Given the description of an element on the screen output the (x, y) to click on. 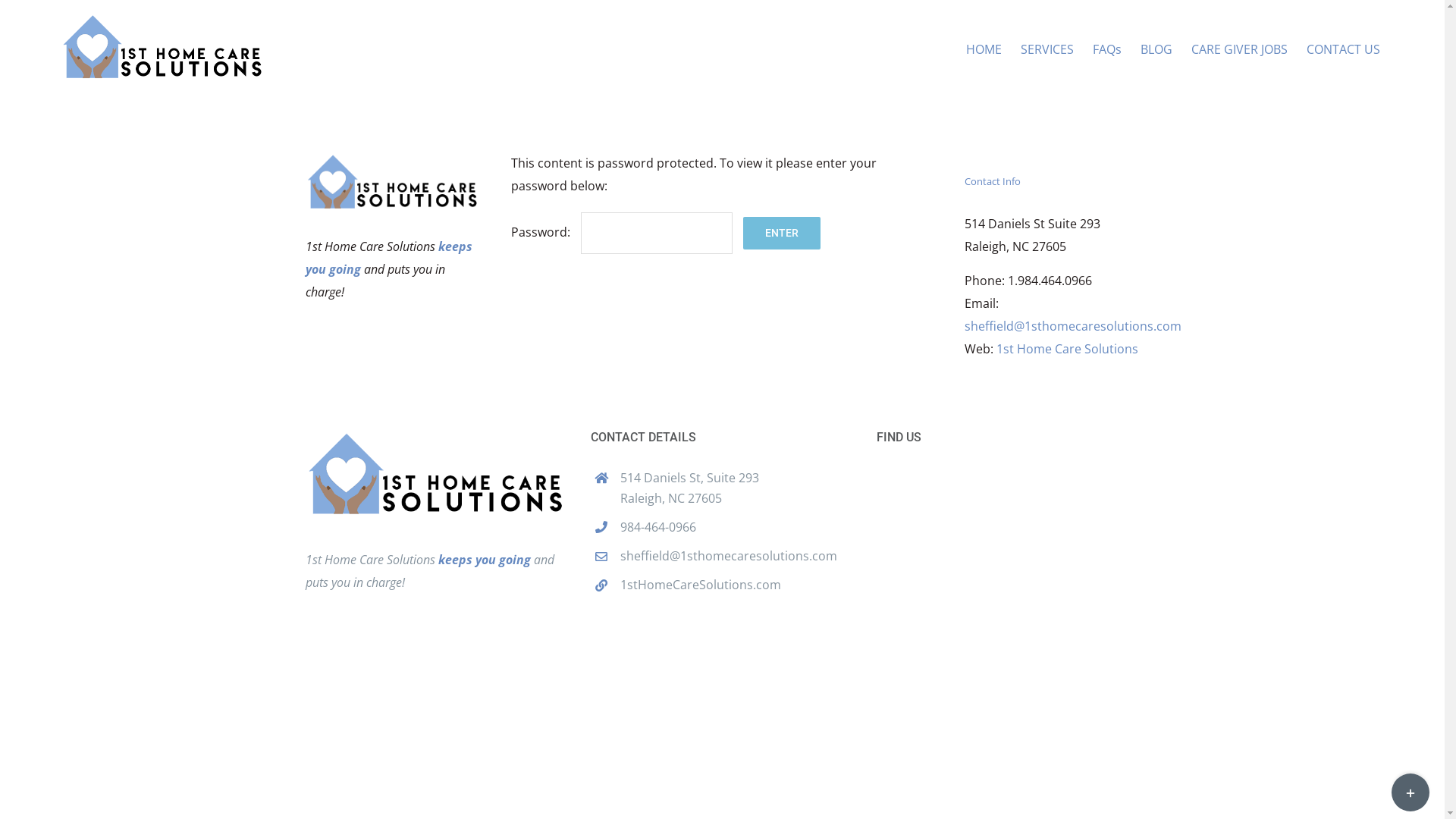
sheffield@1sthomecaresolutions.com Element type: text (1072, 324)
Enter Element type: text (781, 232)
CONTACT US Element type: text (1343, 49)
BLOG Element type: text (1156, 49)
Toggle Sliding Bar Area Element type: text (1410, 792)
sheffield@1sthomecaresolutions.com Element type: text (736, 556)
FAQs Element type: text (1106, 49)
CARE GIVER JOBS Element type: text (1239, 49)
SERVICES Element type: text (1046, 49)
1stHomeCareSolutions.com Element type: text (736, 584)
984-464-0966 Element type: text (736, 527)
1st Home Care Solutions Element type: text (1067, 347)
HOME Element type: text (983, 49)
